Given the description of an element on the screen output the (x, y) to click on. 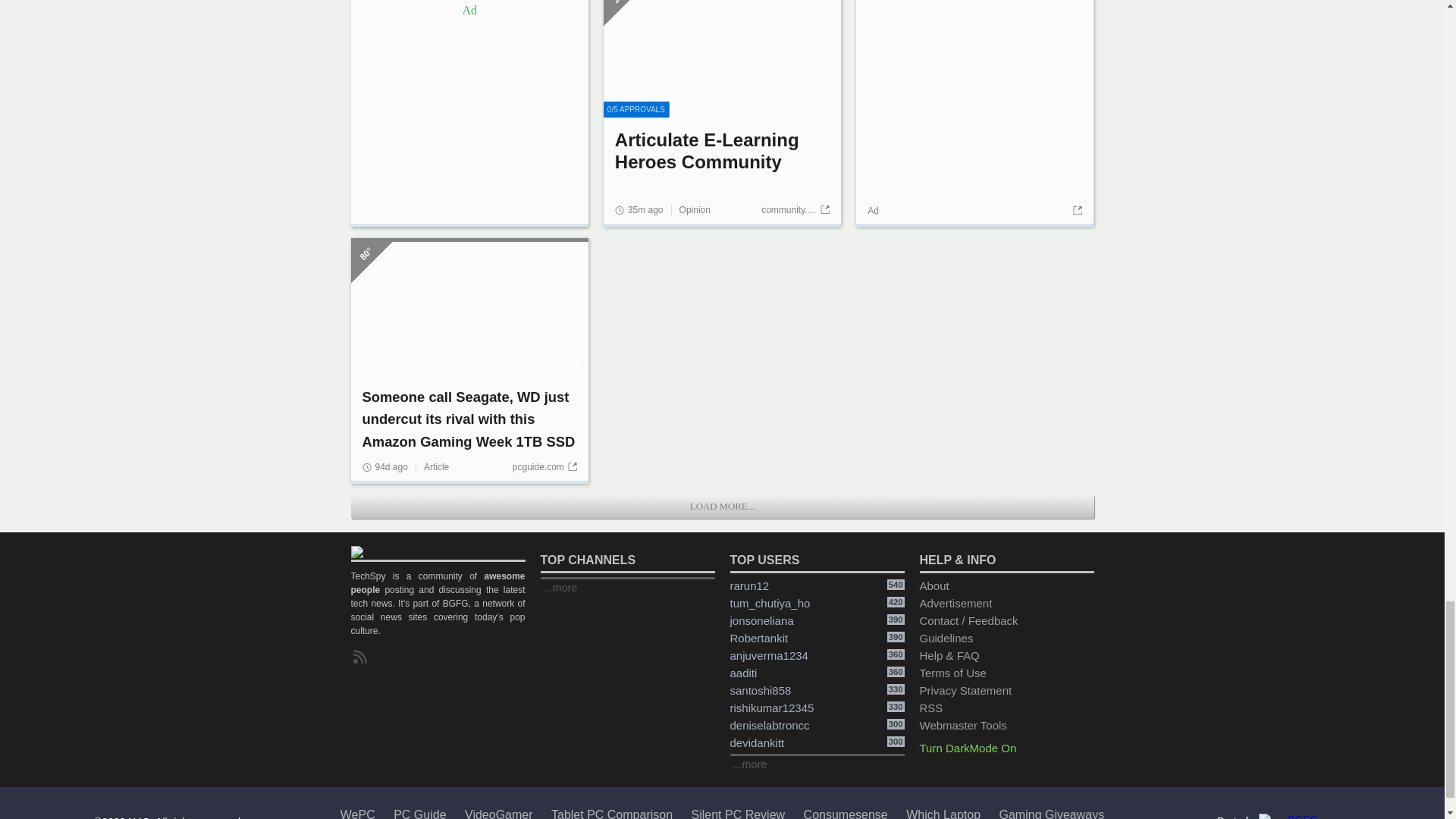
RSS Feed (362, 689)
Go to source: pcguide.com (797, 241)
Go to source: studymantra.co.in (542, 498)
Go to source (1074, 242)
